Given the description of an element on the screen output the (x, y) to click on. 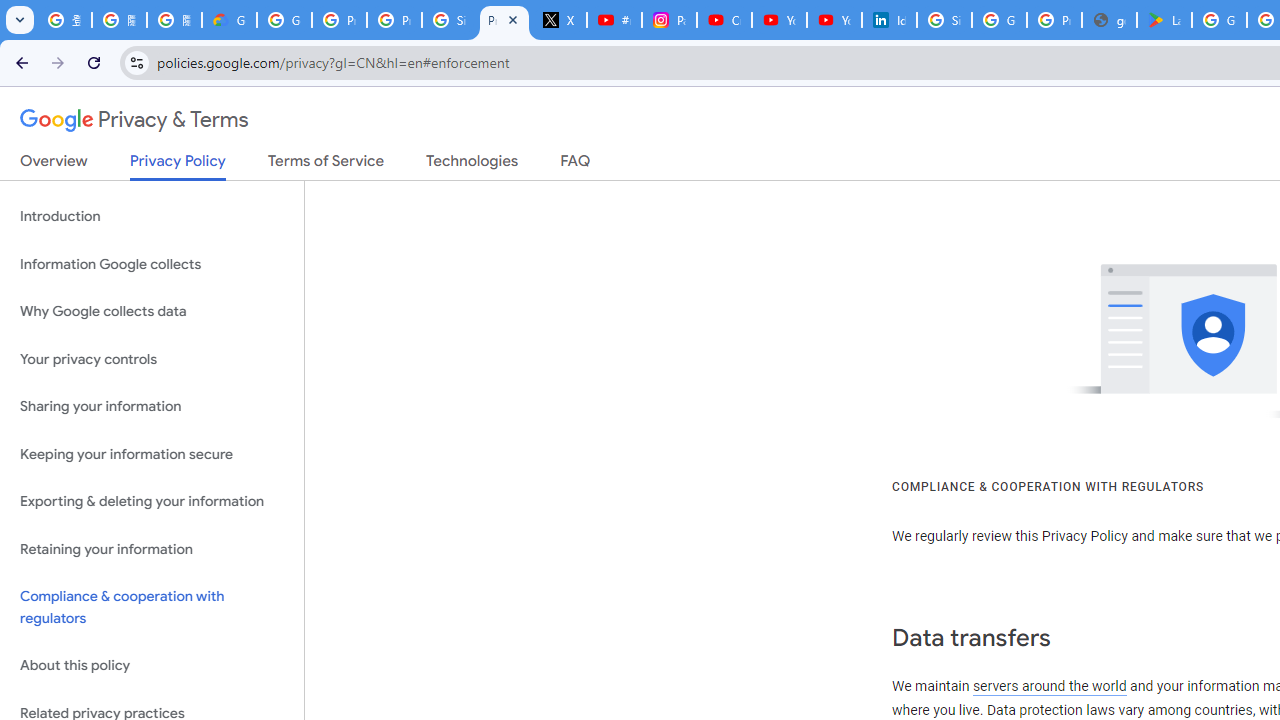
Last Shelter: Survival - Apps on Google Play (1163, 20)
Google Cloud Privacy Notice (229, 20)
X (559, 20)
#nbabasketballhighlights - YouTube (614, 20)
